Given the description of an element on the screen output the (x, y) to click on. 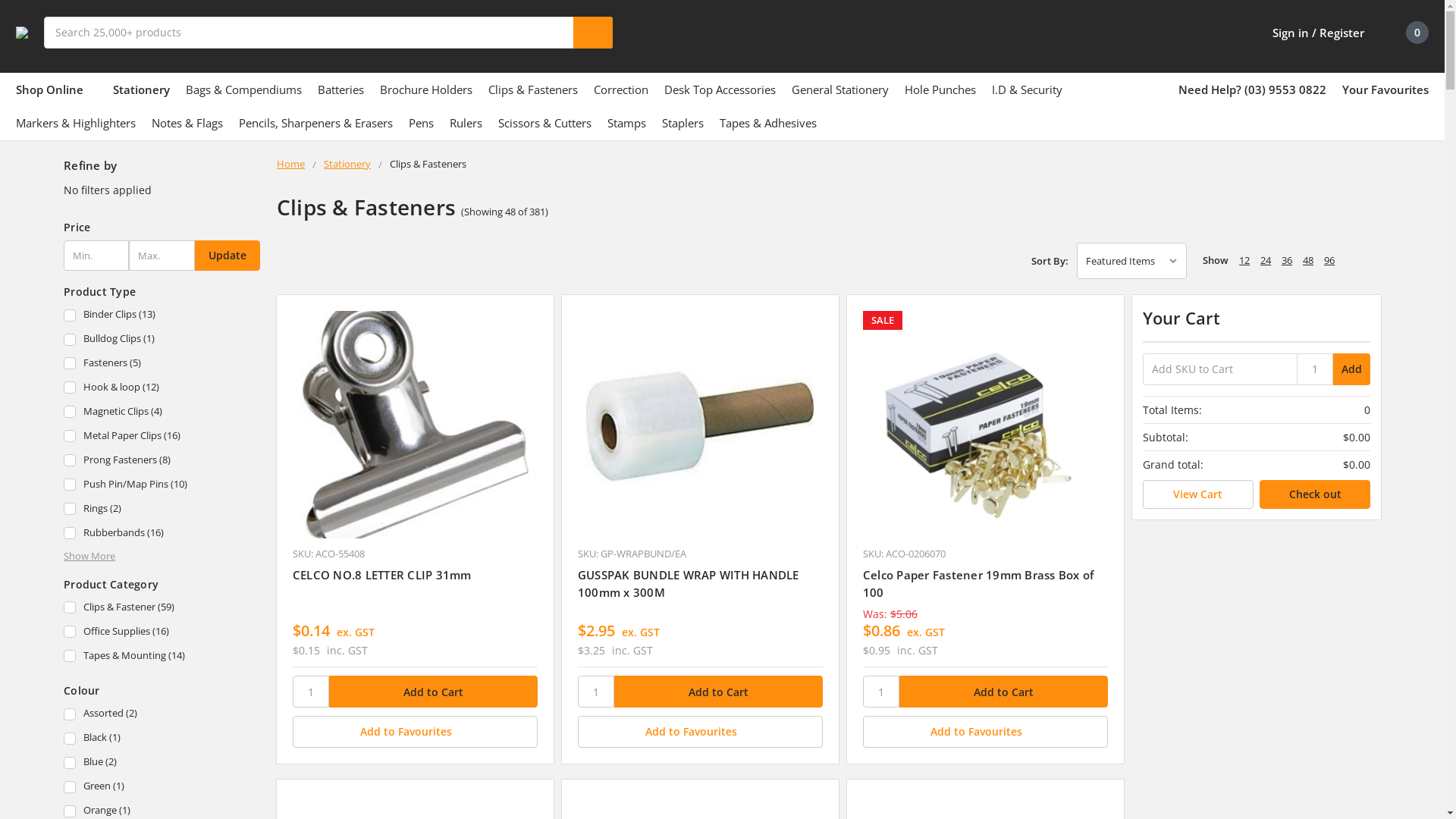
Notes & Flags Element type: text (186, 122)
Home Element type: text (290, 163)
Scissors & Cutters Element type: text (544, 122)
Update Element type: text (227, 255)
Celco Paper Fastener 19mm Brass Box of 100 Element type: hover (984, 424)
12 Element type: text (1244, 259)
CELCO NO.8 LETTER CLIP 31mm Element type: text (381, 574)
Tapes & Mounting (14) Element type: text (161, 656)
Metal Paper Clips (16) Element type: text (161, 436)
GUSSPAK BUNDLE WRAP WITH HANDLE 100mm x 300M Element type: text (688, 583)
36 Element type: text (1286, 259)
48 Element type: text (1307, 259)
0 Element type: text (1404, 32)
Stationery Element type: text (140, 89)
Add to Cart Element type: text (433, 691)
Your Favourites Element type: text (1385, 89)
Shop Online Element type: text (56, 89)
96 Element type: text (1329, 259)
Assorted (2) Element type: text (161, 713)
Add to Favourites Element type: text (984, 731)
Tapes & Adhesives Element type: text (767, 122)
Stationery Element type: text (346, 163)
Fasteners (5) Element type: text (161, 363)
Staplers Element type: text (682, 122)
Magnetic Clips (4) Element type: text (161, 411)
Add Element type: text (1351, 369)
View Cart Element type: text (1197, 494)
Rings (2) Element type: text (161, 508)
Rubberbands (16) Element type: text (161, 533)
Hole Punches Element type: text (939, 89)
Push Pin/Map Pins (10) Element type: text (161, 484)
Celco Paper Fastener 19mm Brass Box of 100 Element type: text (978, 583)
I.D & Security Element type: text (1026, 89)
Clips & Fastener (59) Element type: text (161, 607)
Check out Element type: text (1314, 494)
Pens Element type: text (420, 122)
Rulers Element type: text (465, 122)
Prong Fasteners (8) Element type: text (161, 460)
General Stationery Element type: text (839, 89)
Need Help? (03) 9553 0822 Element type: text (1252, 89)
Bulldog Clips (1) Element type: text (161, 339)
SALE Element type: text (984, 424)
Batteries Element type: text (340, 89)
Blue (2) Element type: text (161, 762)
Markers & Highlighters Element type: text (75, 122)
CELCO NO.8 LETTER CLIP 31mm Element type: hover (414, 424)
Melbourne Office Supplies Element type: hover (21, 32)
Brochure Holders Element type: text (425, 89)
GUSSPAK BUNDLE WRAP WITH HANDLE 100mm x 300M Element type: hover (699, 424)
Clips & Fasteners Element type: text (532, 89)
Green (1) Element type: text (161, 786)
Stamps Element type: text (626, 122)
Sign in / Register Element type: text (1308, 32)
Office Supplies (16) Element type: text (161, 631)
Desk Top Accessories Element type: text (719, 89)
Add to Cart Element type: text (1003, 691)
Black (1) Element type: text (161, 738)
24 Element type: text (1265, 259)
Add to Favourites Element type: text (414, 731)
Show More Element type: text (89, 554)
Correction Element type: text (620, 89)
Bags & Compendiums Element type: text (243, 89)
Add to Favourites Element type: text (699, 731)
Pencils, Sharpeners & Erasers Element type: text (315, 122)
Add to Cart Element type: text (718, 691)
Hook & loop (12) Element type: text (161, 387)
Binder Clips (13) Element type: text (161, 314)
